Given the description of an element on the screen output the (x, y) to click on. 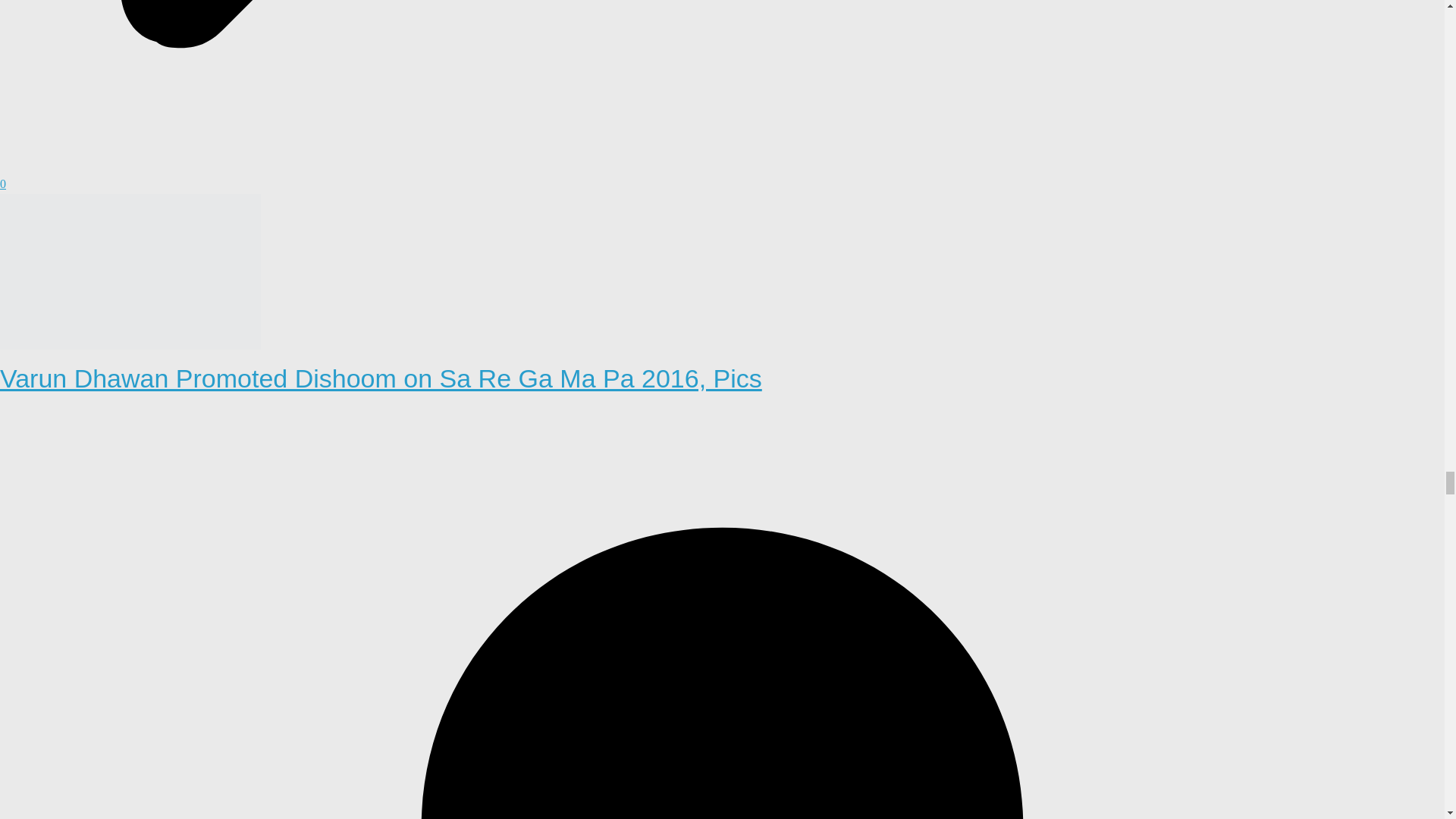
Varun Dhawan Promoted Dishoom on Sa Re Ga Ma Pa 2016, Pics (380, 378)
Varun Dhawan Promoted Dishoom on Sa Re Ga Ma Pa 2016, Pics (380, 378)
Varun Dhawan Promoted Dishoom on Sa Re Ga Ma Pa 2016, Pics (130, 203)
